Given the description of an element on the screen output the (x, y) to click on. 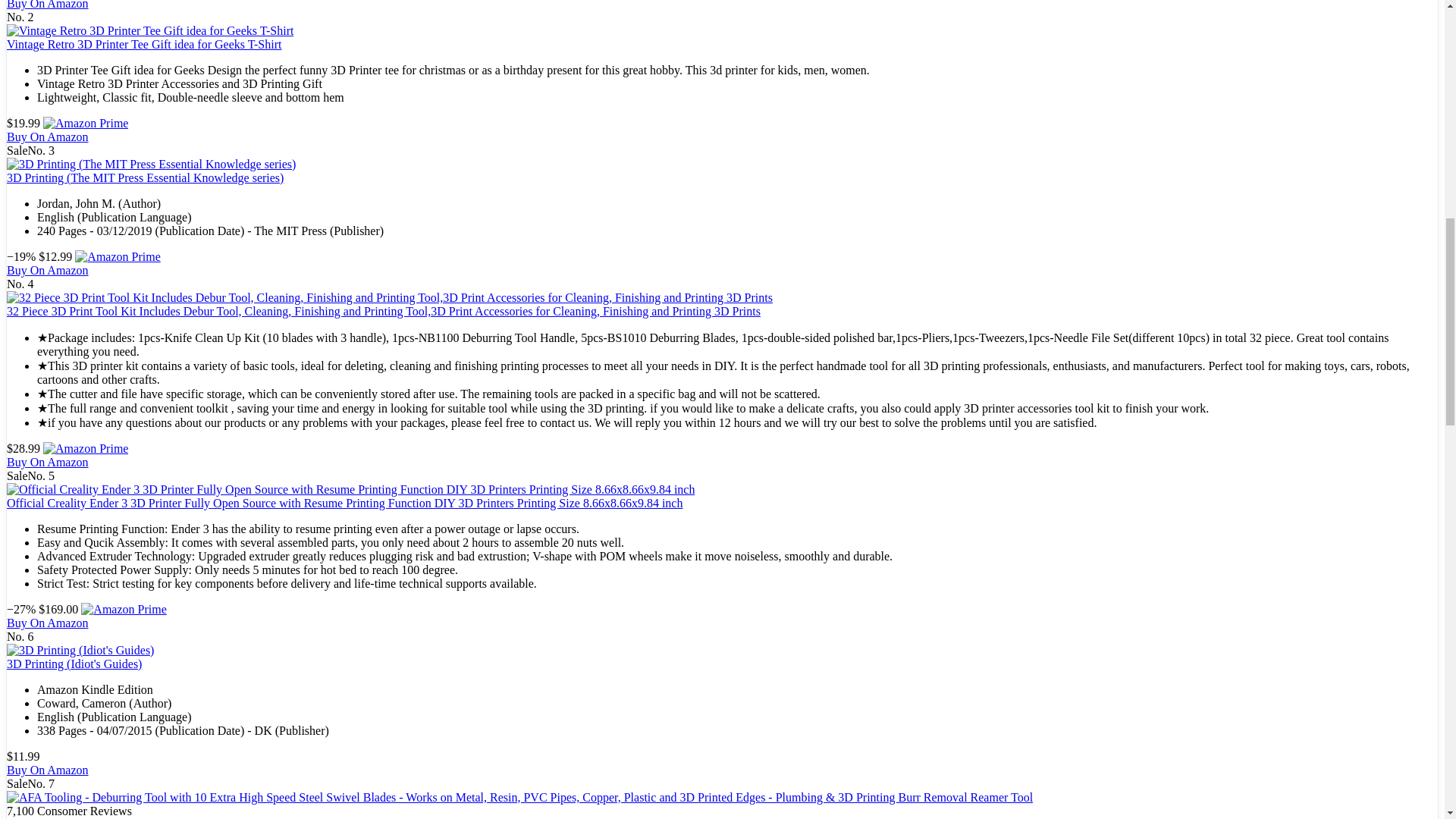
The Best 3D Printing 5 (151, 164)
Amazon Prime (85, 123)
Buy On Amazon (47, 769)
Vintage Retro 3D Printer Tee Gift idea for Geeks T-Shirt (144, 43)
Buy On Amazon (47, 622)
The Best 3D Printing 3 (150, 30)
Vintage Retro 3D Printer Tee Gift idea for Geeks T-Shirt (150, 30)
Vintage Retro 3D Printer Tee Gift idea for Geeks T-Shirt (144, 43)
The Best 3D Printing 2 (85, 123)
Buy On Amazon (47, 4)
Buy On Amazon (47, 269)
Buy On Amazon (47, 4)
Buy On Amazon (47, 136)
